Given the description of an element on the screen output the (x, y) to click on. 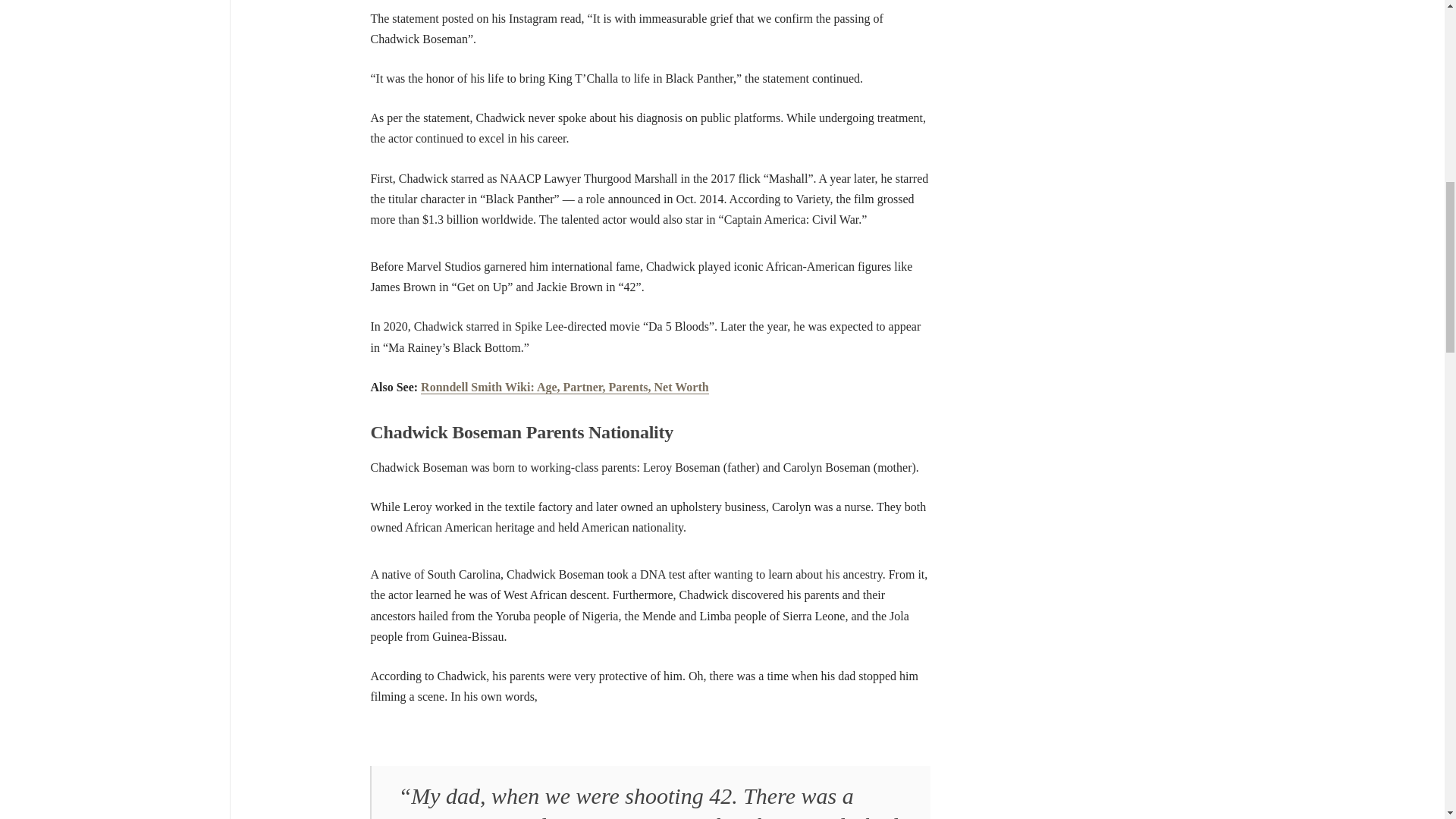
Ronndell Smith Wiki: Age, Partner, Parents, Net Worth (564, 386)
